Given the description of an element on the screen output the (x, y) to click on. 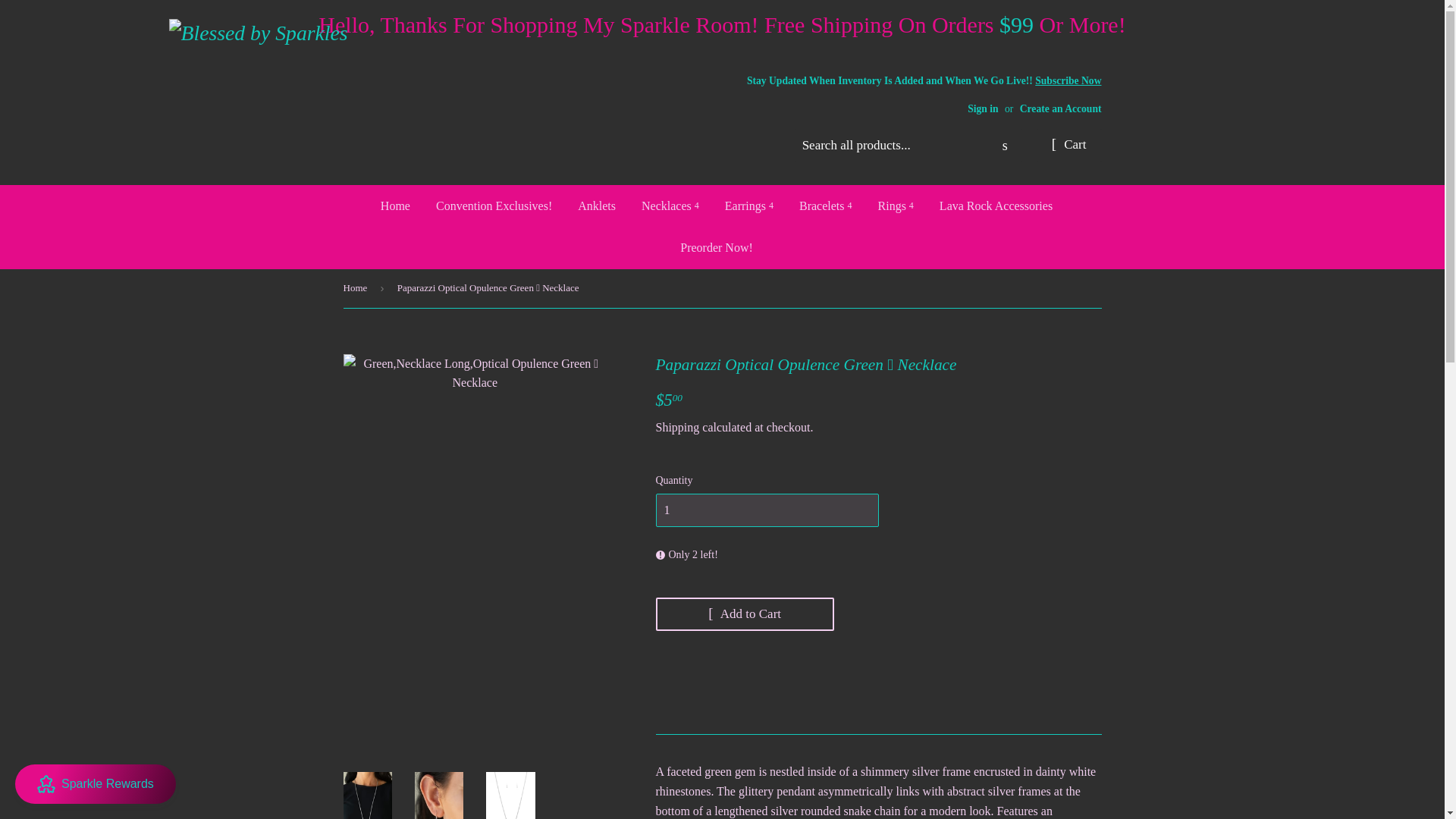
1 (766, 510)
Create an Account (1061, 108)
Sign in (982, 108)
Search (1005, 146)
Cart (1069, 145)
